Given the description of an element on the screen output the (x, y) to click on. 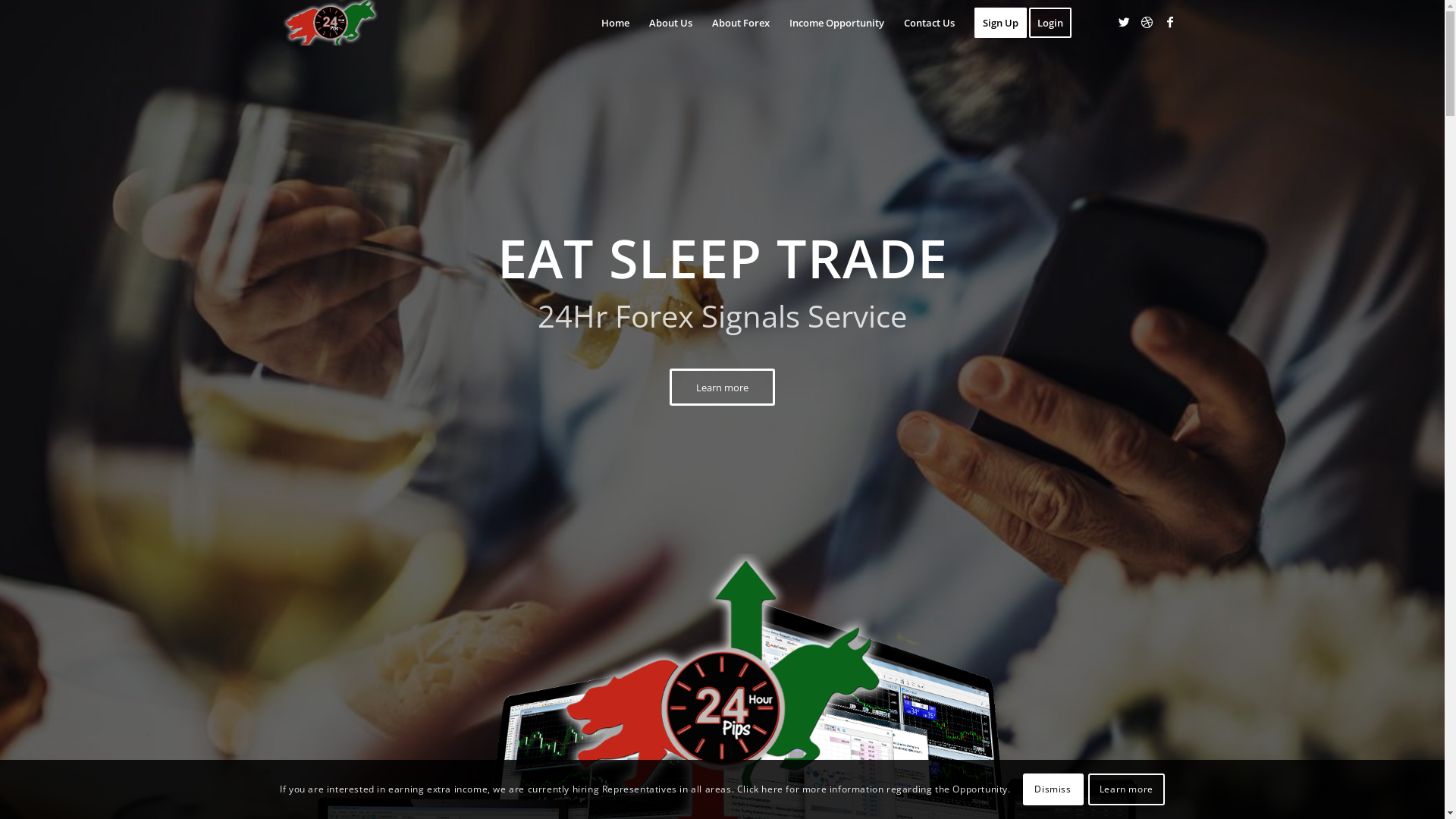
Login Element type: text (1054, 22)
Contact Us Element type: text (928, 22)
Home Element type: text (615, 22)
Learn more Element type: text (722, 387)
About Forex Element type: text (740, 22)
Dribbble Element type: hover (1146, 21)
Facebook Element type: hover (1169, 21)
Income Opportunity Element type: text (836, 22)
Sign Up Element type: text (1000, 22)
About Us Element type: text (669, 22)
Dismiss Element type: text (1052, 789)
Twitter Element type: hover (1124, 21)
Learn more Element type: text (1126, 789)
